Given the description of an element on the screen output the (x, y) to click on. 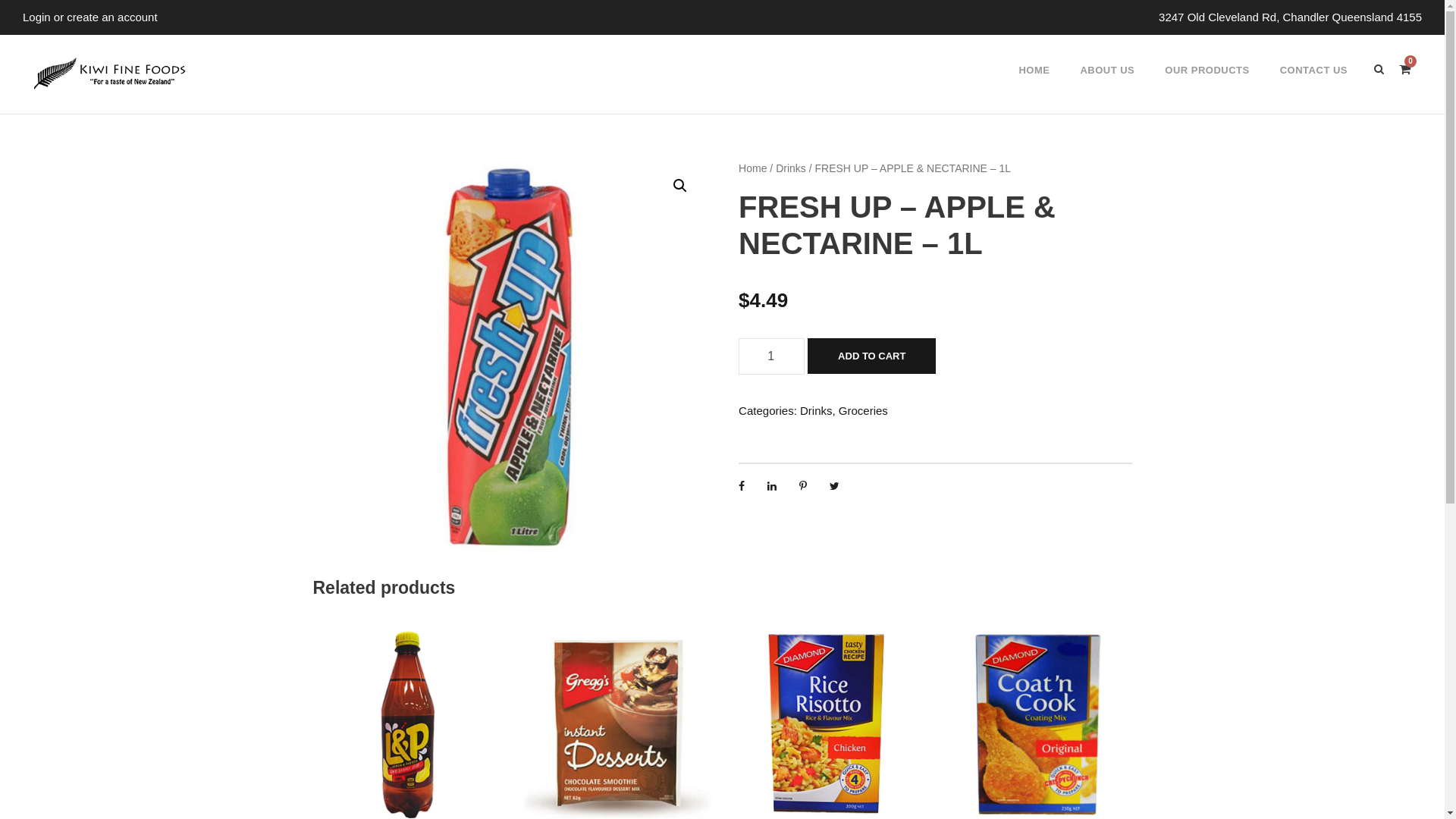
Cart Element type: text (334, 621)
Who We Are Element type: text (473, 570)
Home Element type: text (339, 570)
CONTACT US Element type: text (1313, 83)
Login or create an account Element type: text (89, 16)
Home Element type: text (752, 168)
Lost password Element type: text (477, 621)
Drinks Element type: text (790, 168)
My account Element type: text (470, 595)
HOME Element type: text (1033, 83)
ADD TO CART Element type: text (871, 355)
ABOUT US Element type: text (1106, 83)
Contact Us Element type: text (352, 595)
Groceries Element type: text (863, 410)
Shipping/Returns Policy Element type: text (367, 656)
OUR PRODUCTS Element type: text (1206, 83)
edited-company-logo Element type: hover (109, 73)
Drinks Element type: text (816, 410)
